Given the description of an element on the screen output the (x, y) to click on. 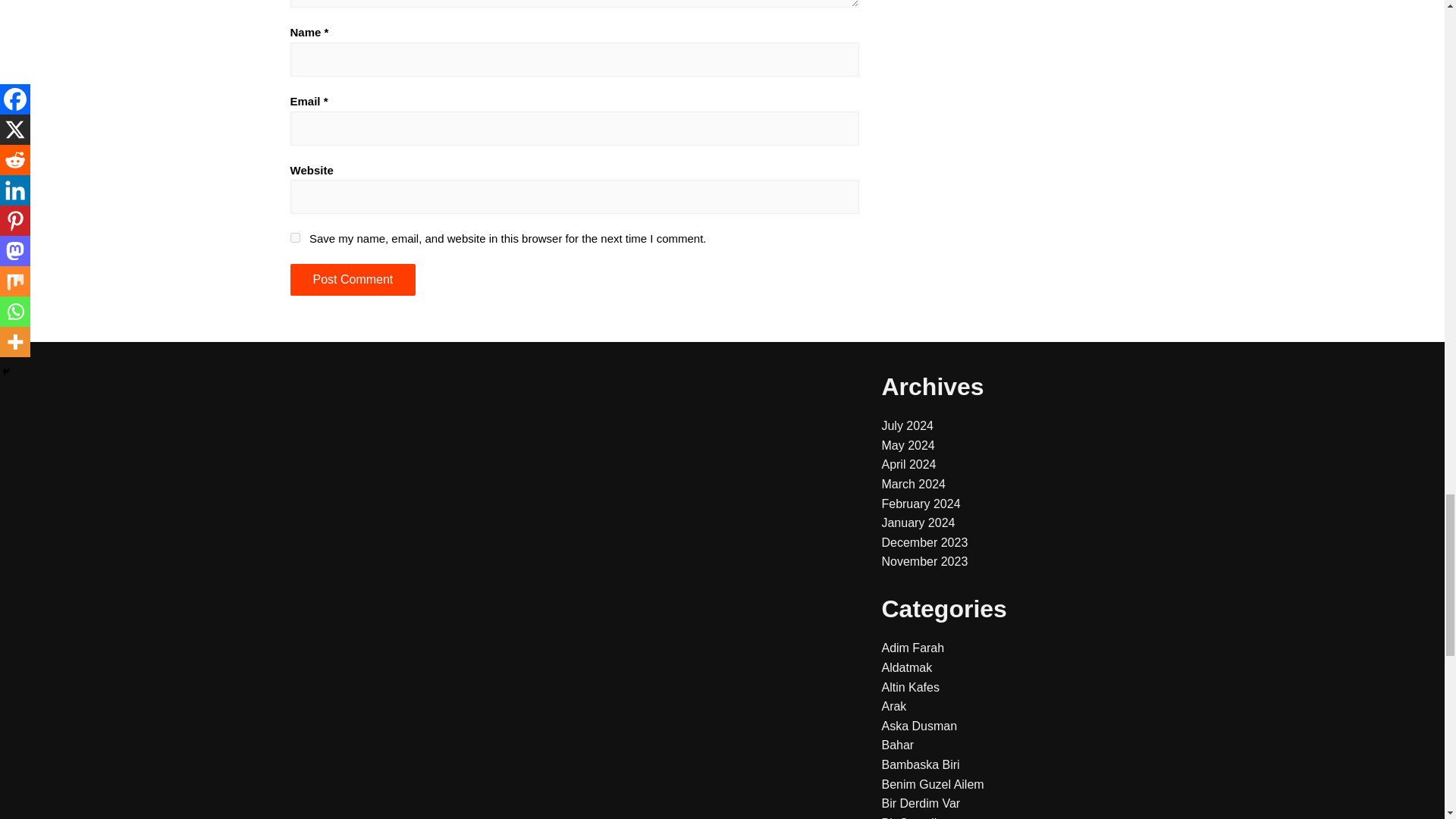
yes (294, 237)
Post Comment (351, 279)
